Given the description of an element on the screen output the (x, y) to click on. 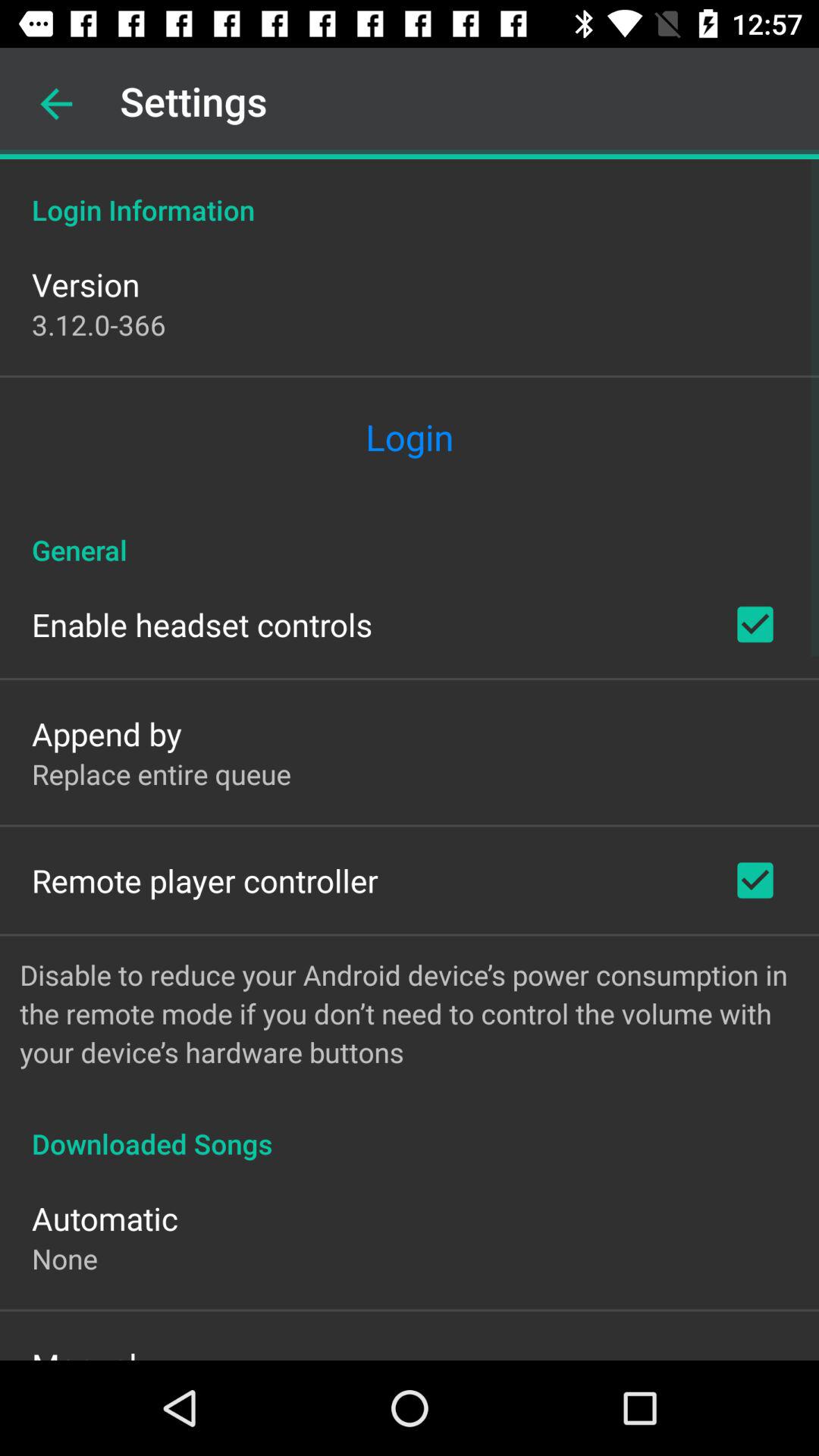
select the icon below version icon (98, 324)
